Given the description of an element on the screen output the (x, y) to click on. 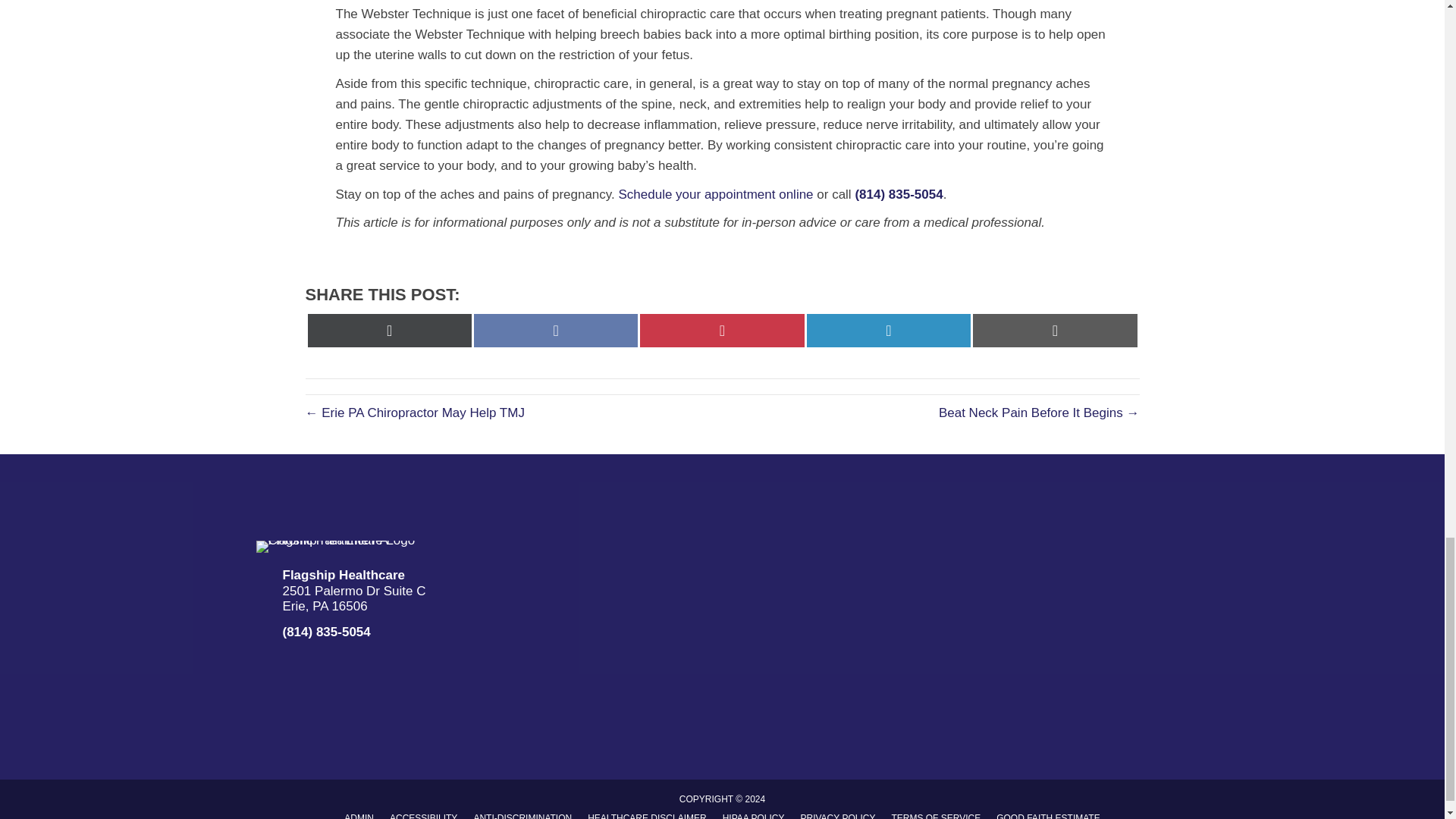
Chronic Pain Erie PA Flagship Healthcare Logo (337, 546)
Share on LinkedIn (888, 330)
Schedule your appointment online (715, 194)
Share on Facebook (555, 330)
Share on Email (1054, 330)
Share on Pinterest (721, 330)
